Given the description of an element on the screen output the (x, y) to click on. 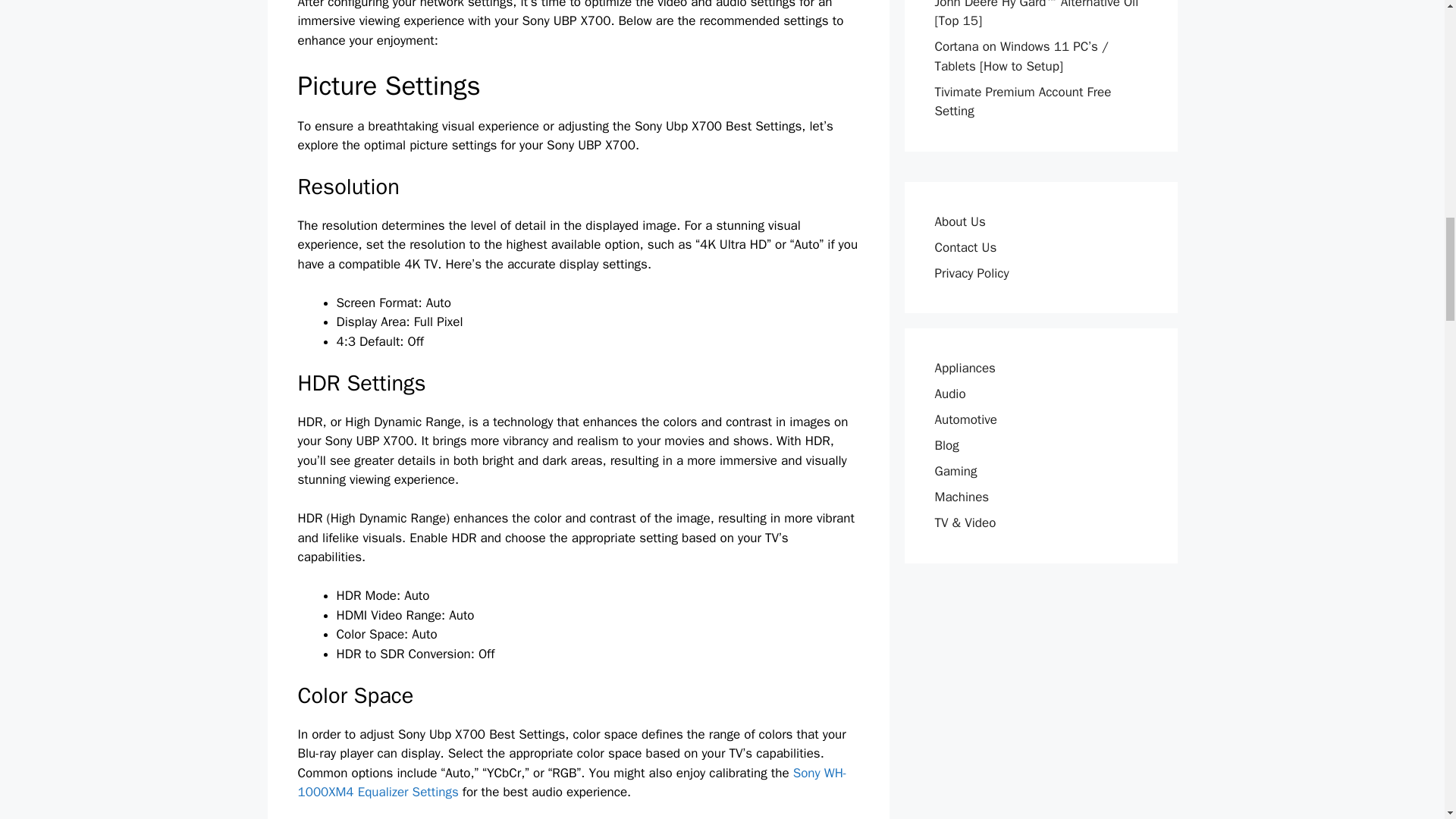
Sony WH-1000XM4 Equalizer Settings (571, 782)
